Given the description of an element on the screen output the (x, y) to click on. 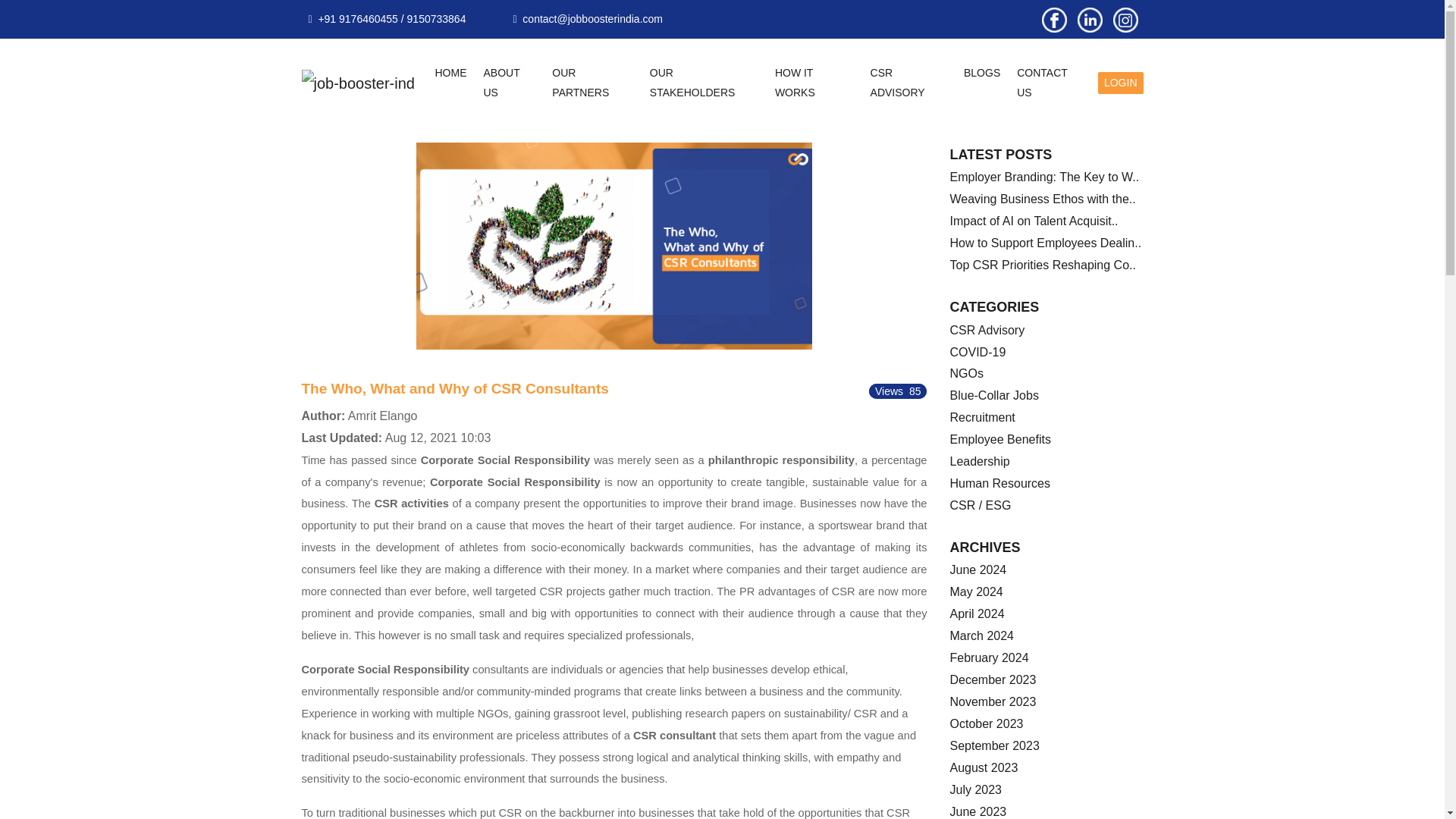
HOW IT WORKS (814, 82)
OUR STAKEHOLDERS (704, 82)
OUR PARTNERS (591, 82)
CONTACT US (1049, 82)
CSR ADVISORY (908, 82)
LOGIN (1119, 83)
